Given the description of an element on the screen output the (x, y) to click on. 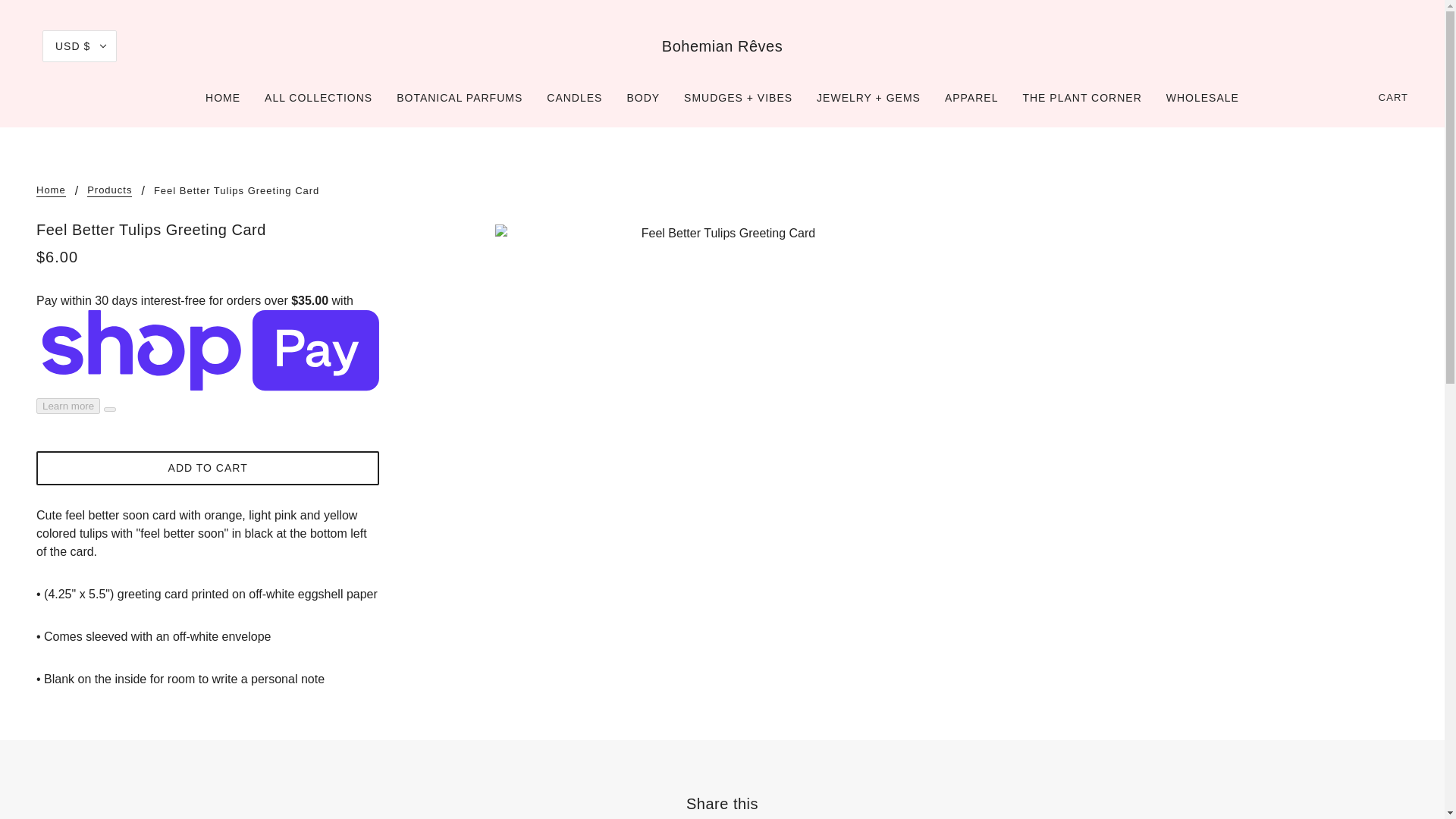
BODY (642, 103)
APPAREL (971, 103)
Home (50, 191)
ALL COLLECTIONS (317, 103)
THE PLANT CORNER (1081, 103)
CART (1394, 97)
ADD TO CART (207, 468)
WHOLESALE (1202, 103)
BOTANICAL PARFUMS (459, 103)
HOME (222, 103)
Products (109, 191)
CANDLES (574, 103)
